Given the description of an element on the screen output the (x, y) to click on. 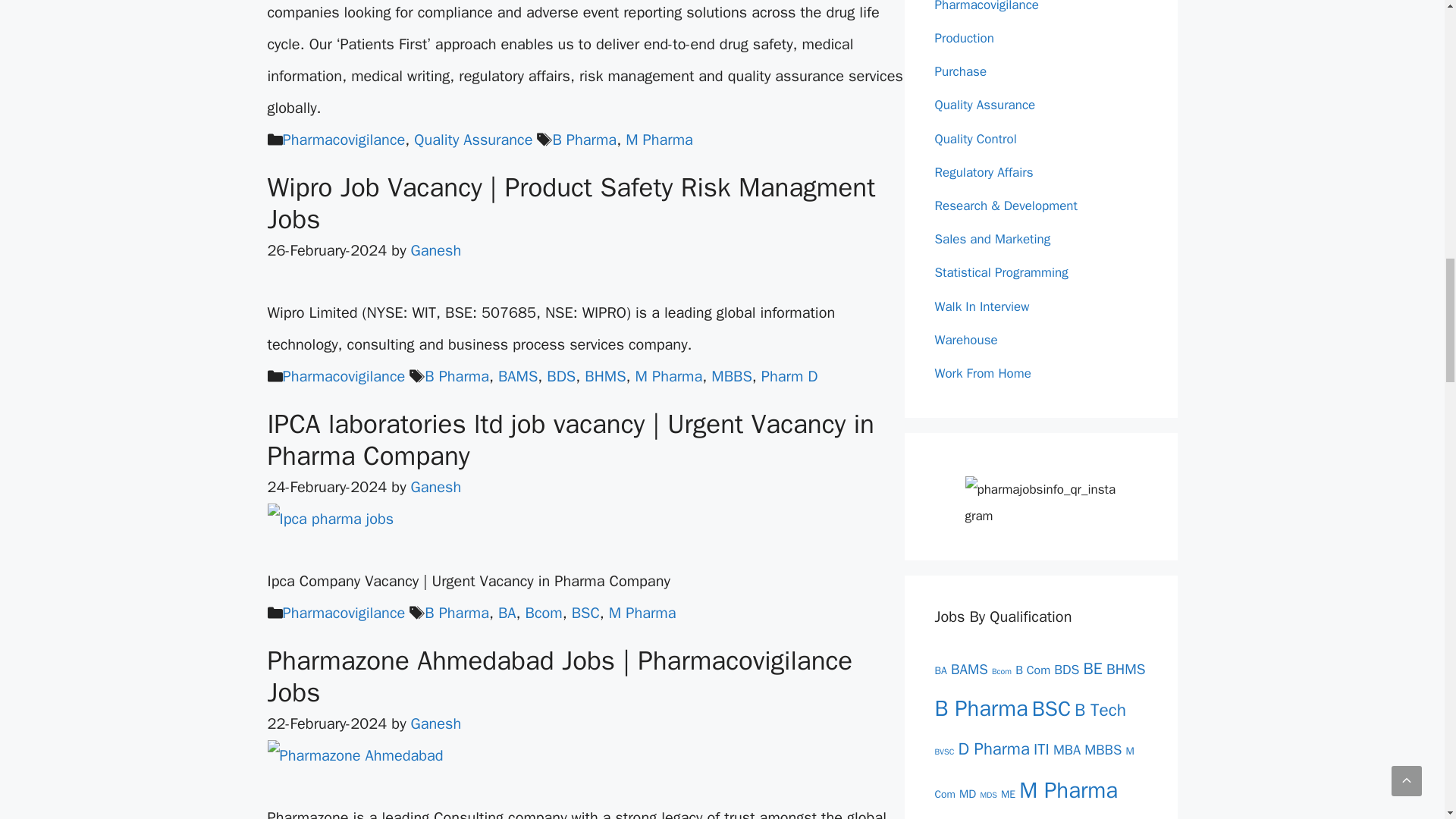
View all posts by Ganesh (435, 250)
M Pharma (659, 139)
Ganesh (435, 250)
B Pharma (583, 139)
Pharmacovigilance (343, 139)
Pharmacovigilance (343, 375)
Quality Assurance (472, 139)
View all posts by Ganesh (435, 723)
View all posts by Ganesh (435, 486)
